Given the description of an element on the screen output the (x, y) to click on. 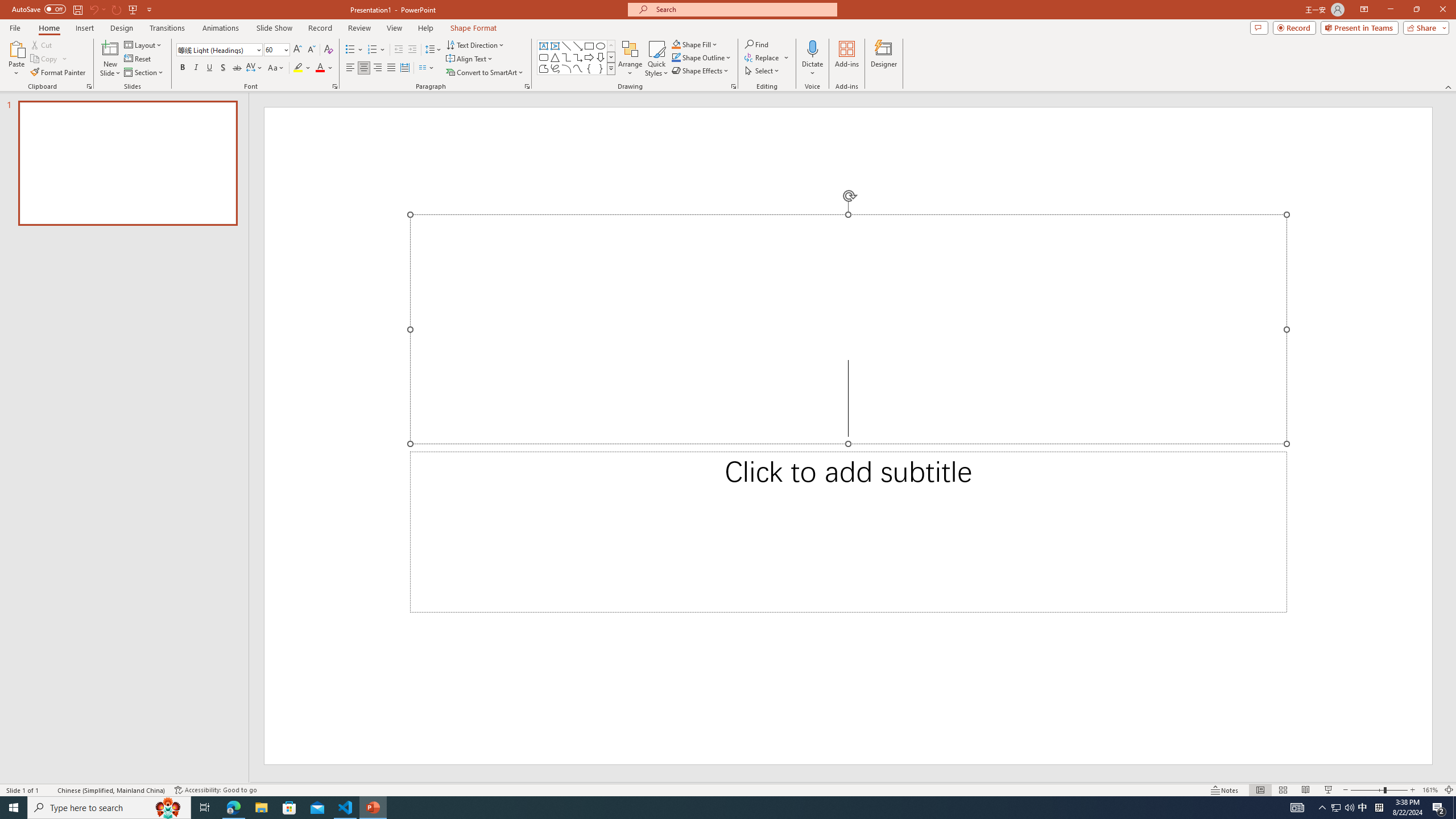
Zoom 161% (1430, 790)
Spell Check  (49, 790)
